Given the description of an element on the screen output the (x, y) to click on. 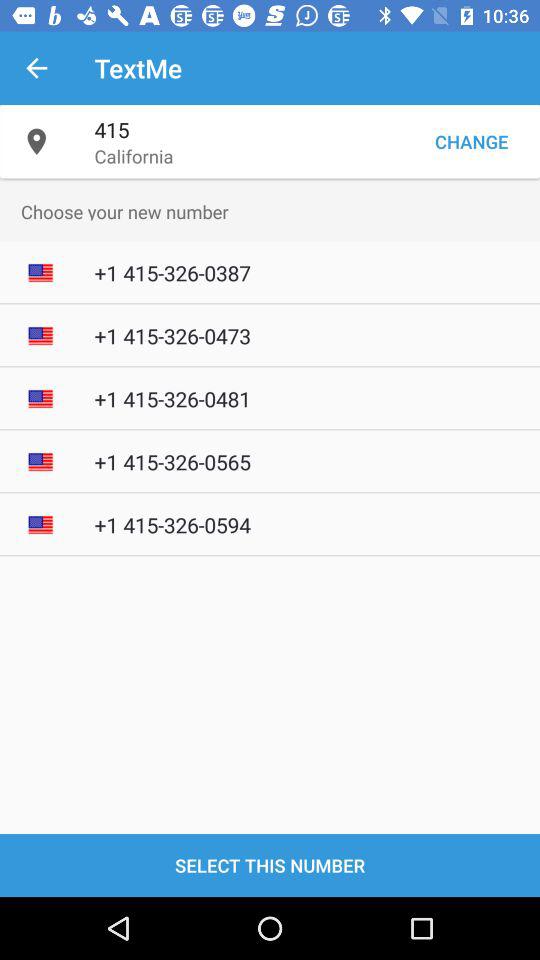
tap item next to the california icon (471, 141)
